Given the description of an element on the screen output the (x, y) to click on. 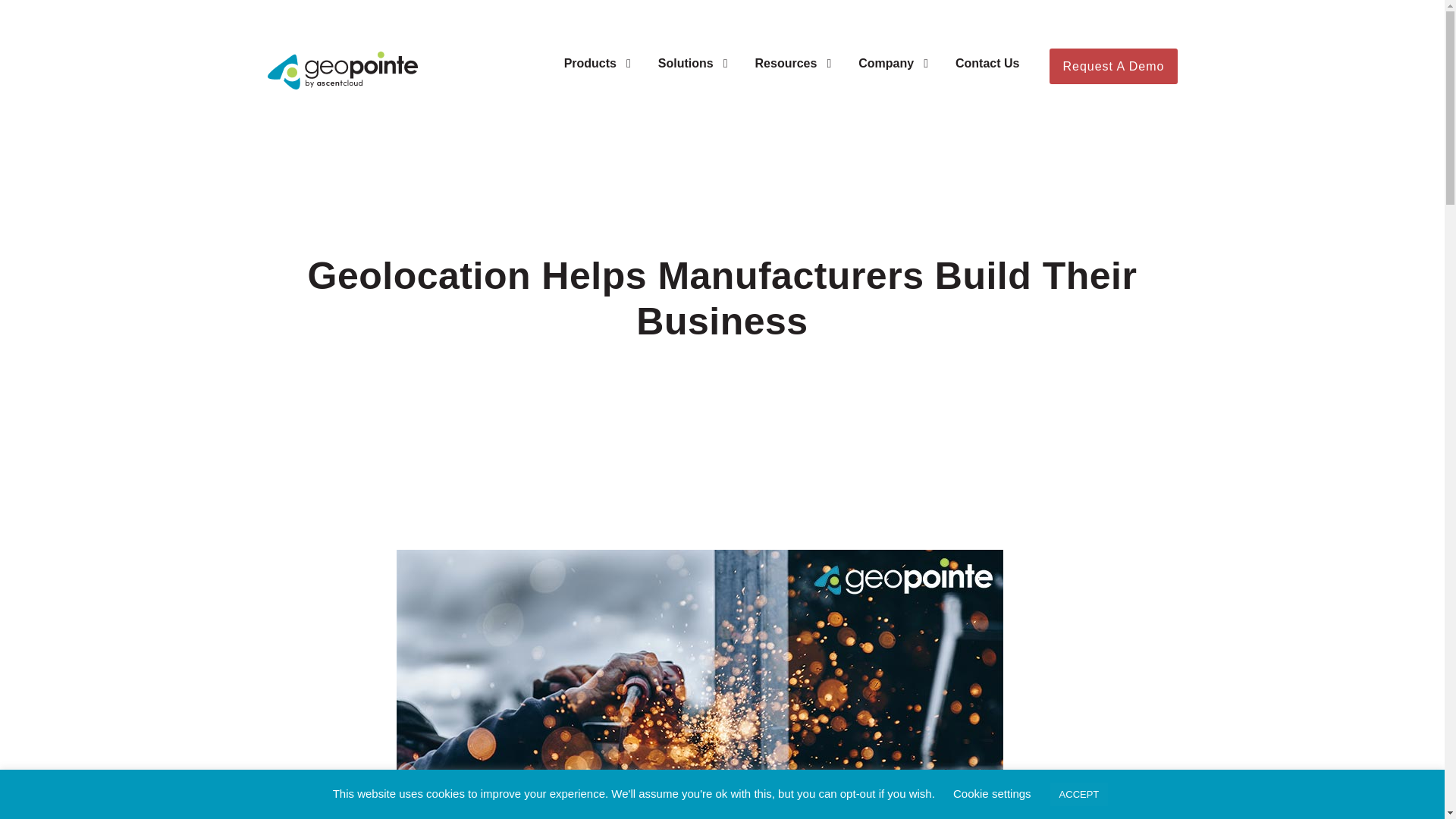
Resources (793, 76)
Solutions (693, 76)
Products (597, 76)
Company (893, 76)
logo-nav (341, 70)
Request A Demo (1112, 66)
Contact Us (987, 76)
